Given the description of an element on the screen output the (x, y) to click on. 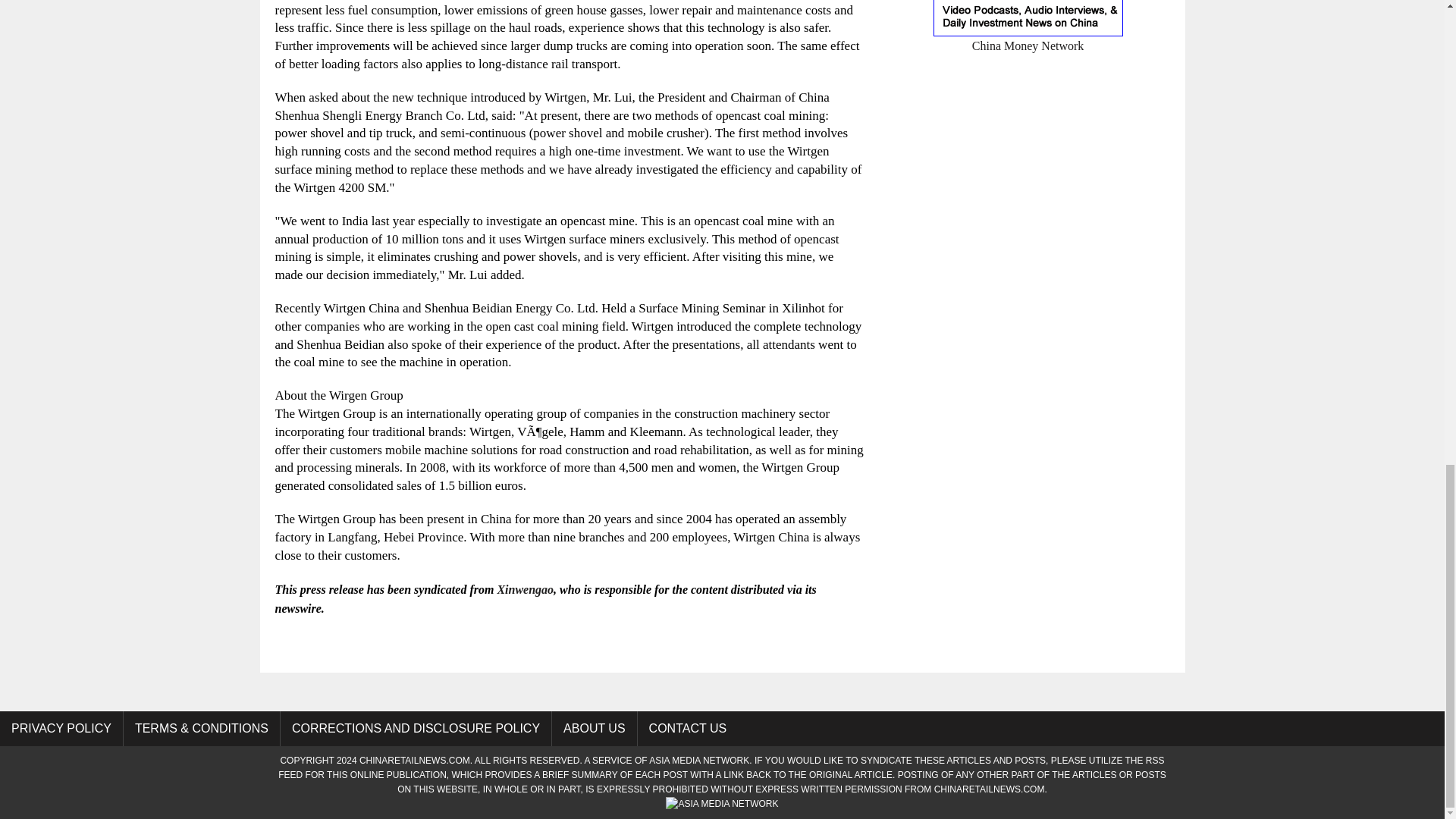
Asia Media Network (721, 803)
Xinwengao (524, 589)
China Money Network - Finance and Investment News Daily (1027, 35)
Asia Media Network (699, 760)
China Money Network (1027, 35)
